Given the description of an element on the screen output the (x, y) to click on. 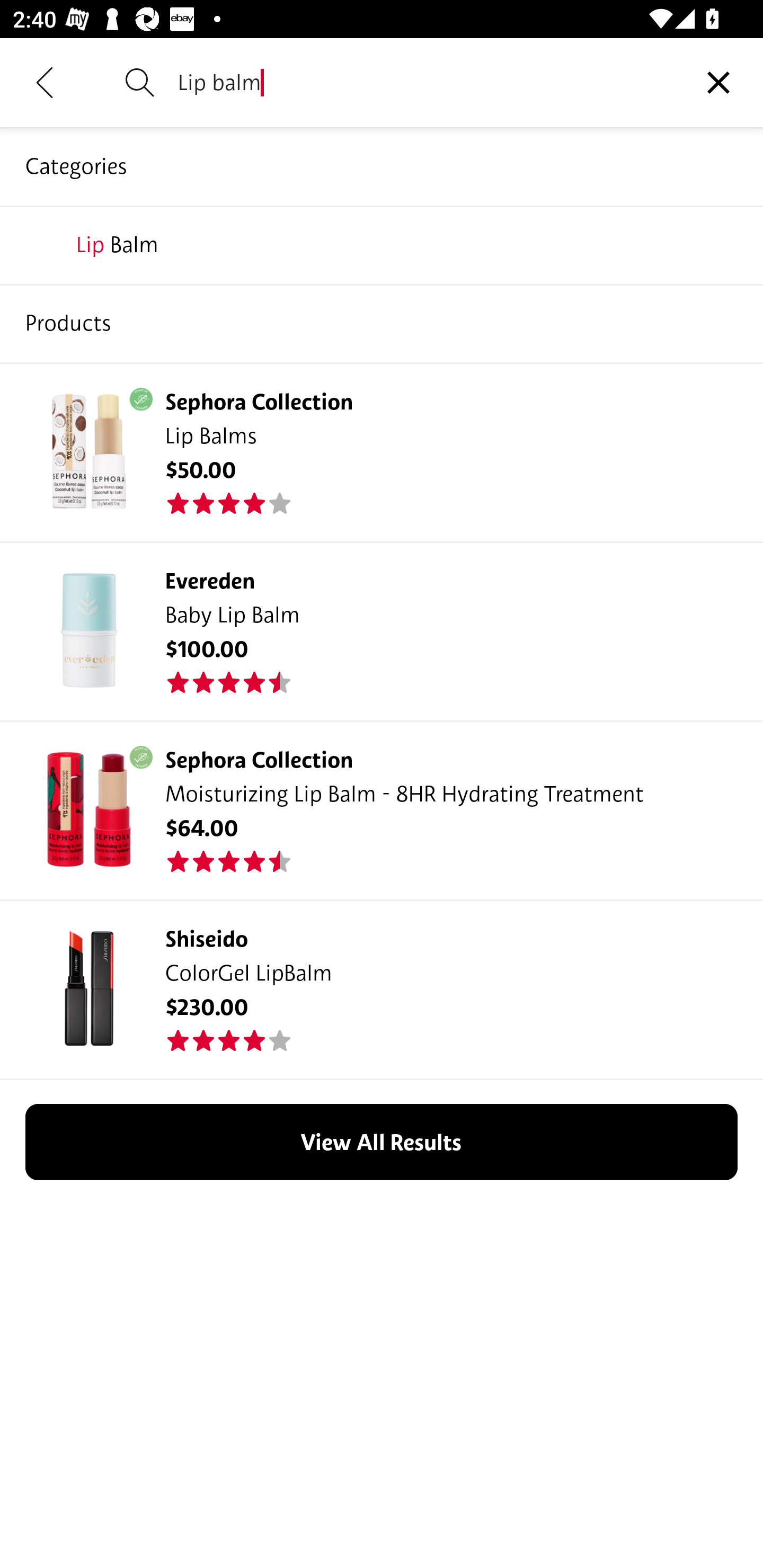
Navigate up (44, 82)
Clear query (718, 81)
Lip balm (425, 82)
rare beauty (381, 244)
supergoop! (381, 322)
Product Image Sephora Collection Lip Balms $50.00 (381, 451)
Product Image Evereden Baby Lip Balm $100.00 (381, 629)
Product Image Shiseido ColorGel LipBalm $230.00 (381, 989)
View All Results (381, 1141)
